Given the description of an element on the screen output the (x, y) to click on. 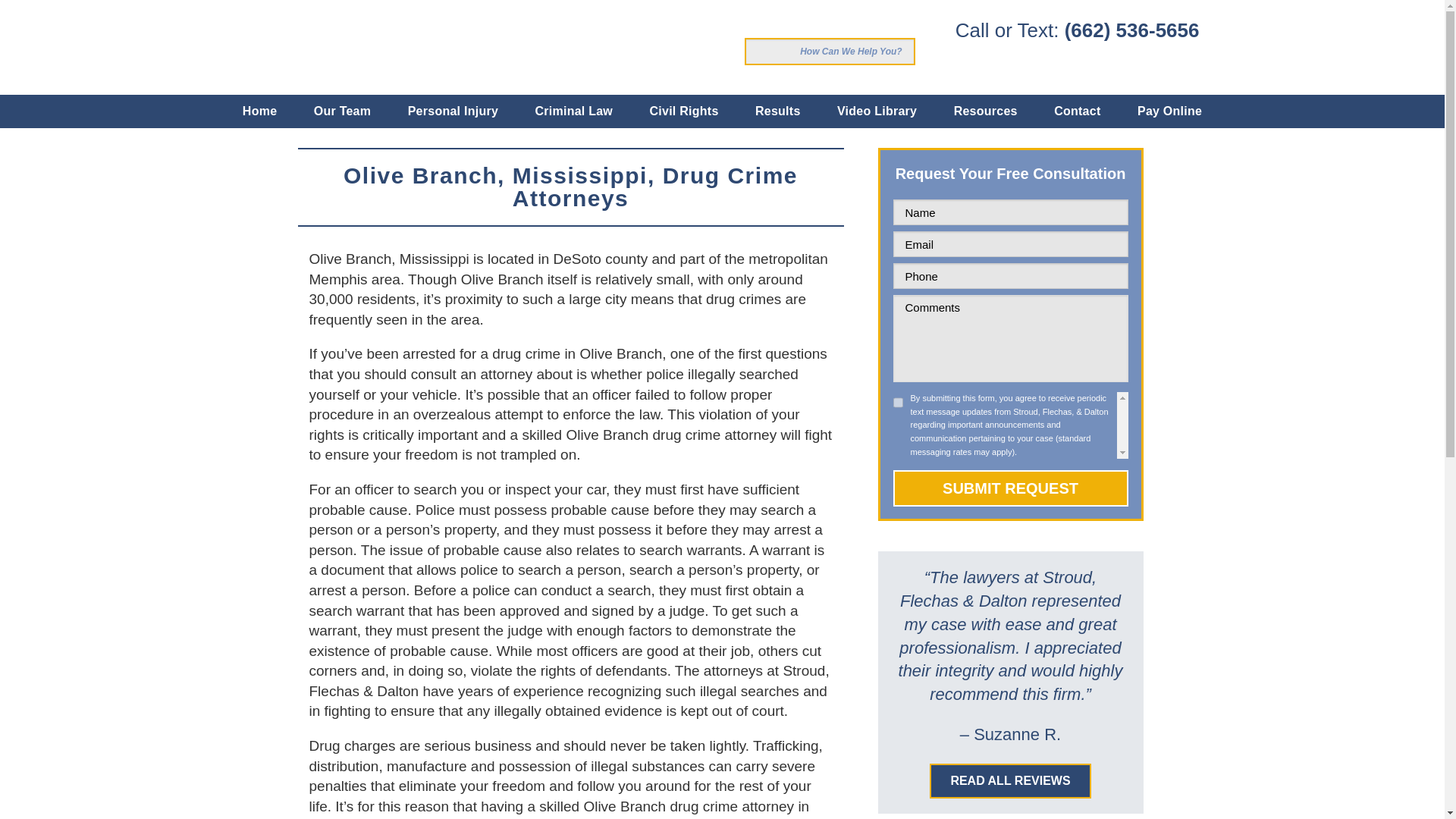
SUBMIT REQUEST (1010, 488)
Search (757, 51)
Search (757, 51)
Search (757, 51)
Our Team (342, 111)
Criminal Law (573, 111)
Personal Injury (453, 111)
Home (259, 111)
Civil Rights (684, 111)
